Given the description of an element on the screen output the (x, y) to click on. 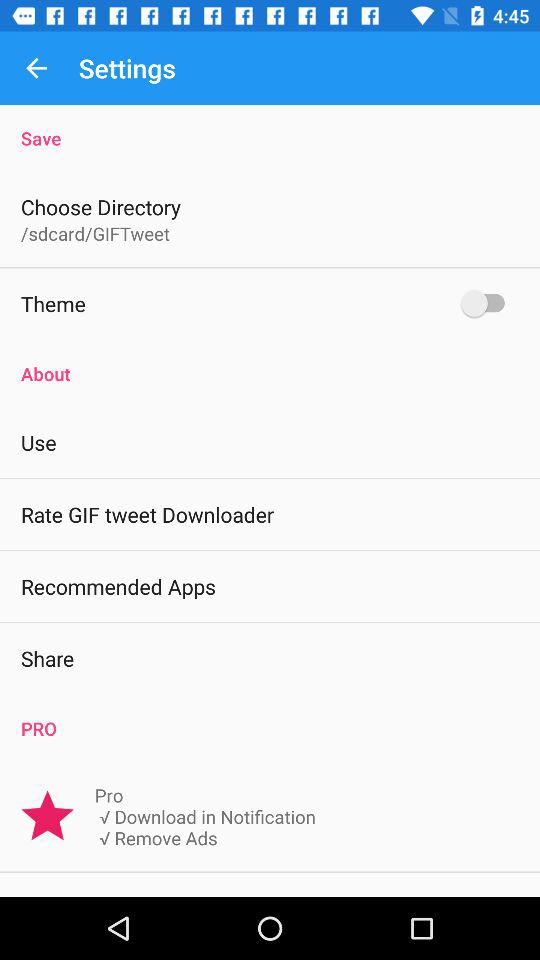
turn off save item (270, 127)
